Given the description of an element on the screen output the (x, y) to click on. 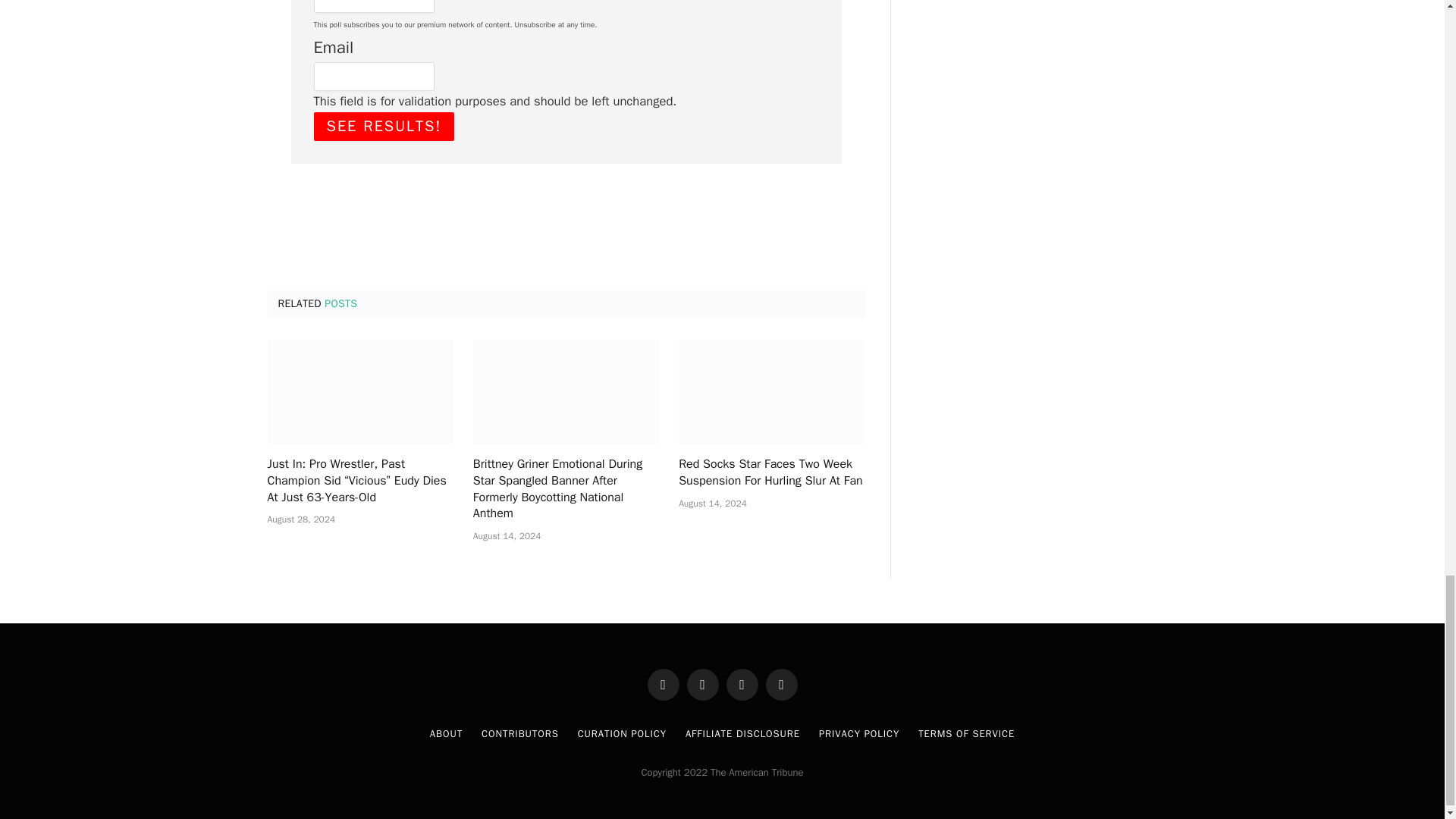
See Results! (384, 126)
TERMS OF SERVICE (966, 733)
AFFILIATE DISCLOSURE (742, 733)
Telegram (781, 685)
Facebook (663, 685)
YouTube (742, 685)
CONTRIBUTORS (520, 733)
